Given the description of an element on the screen output the (x, y) to click on. 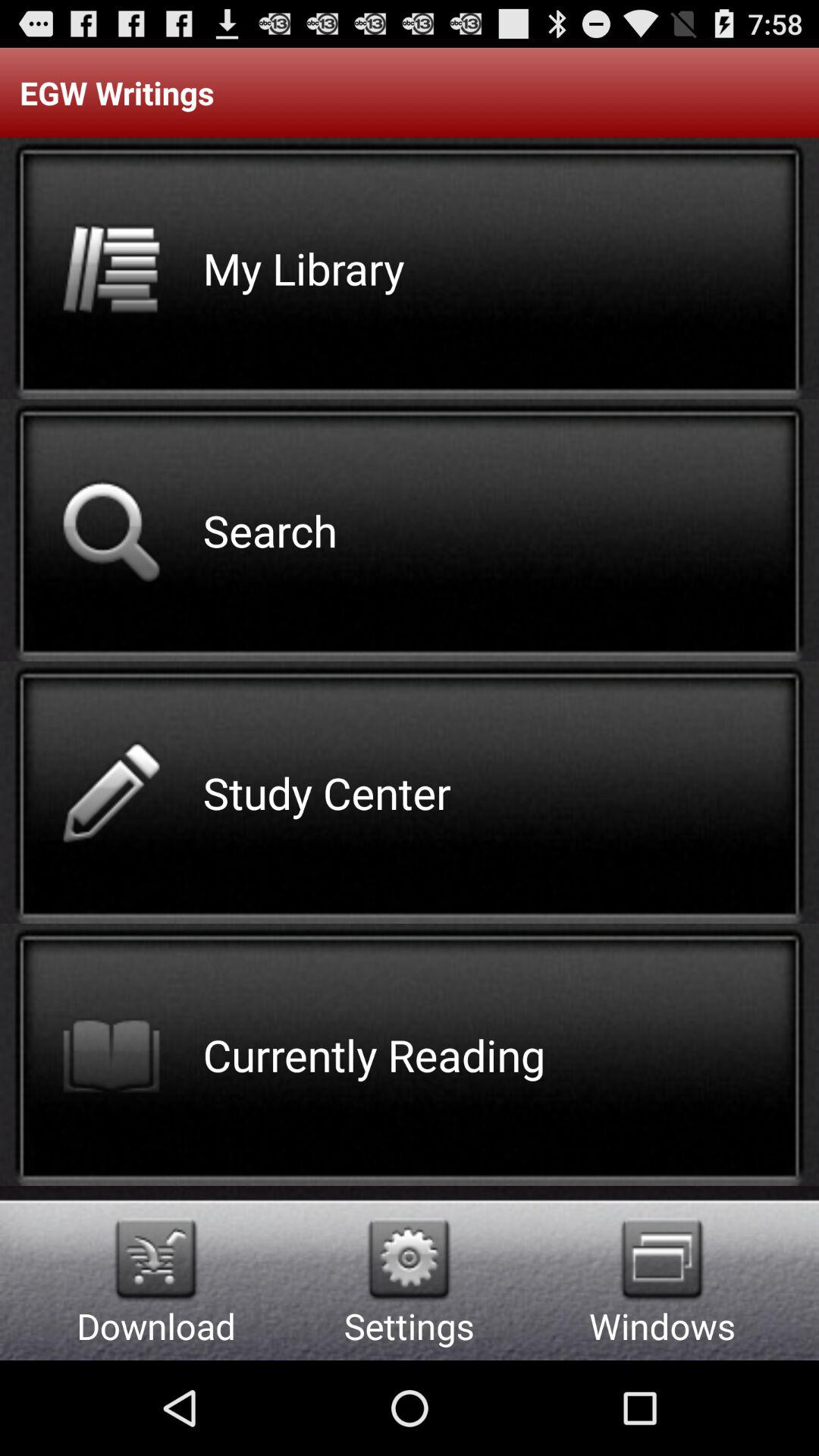
launch app below currently reading app (409, 1258)
